Given the description of an element on the screen output the (x, y) to click on. 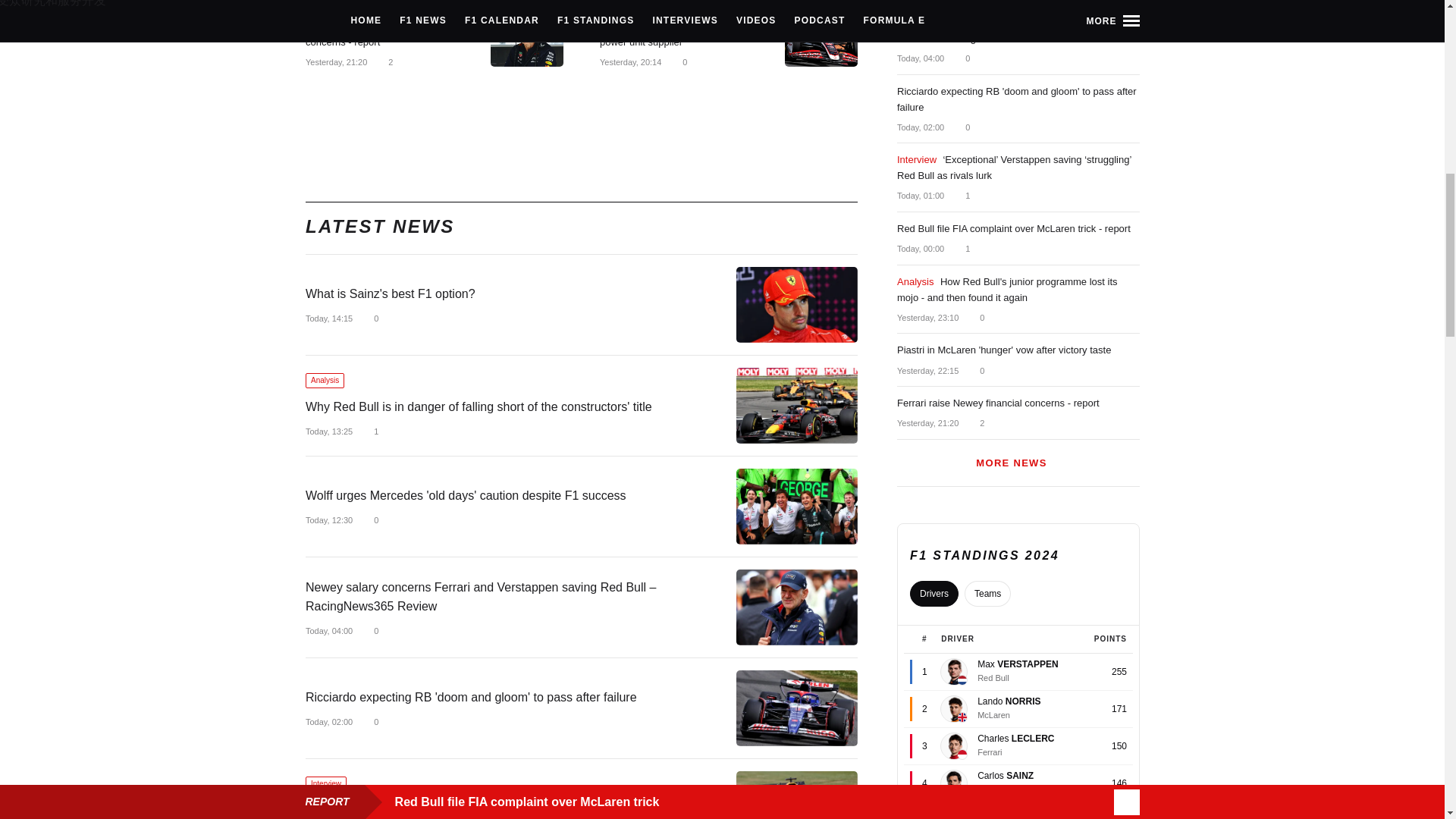
Wednesday 17 July 2024 at 14:15 (328, 318)
Tuesday 16 July 2024 at 20:14 (629, 61)
Tuesday 16 July 2024 at 21:20 (335, 61)
